Given the description of an element on the screen output the (x, y) to click on. 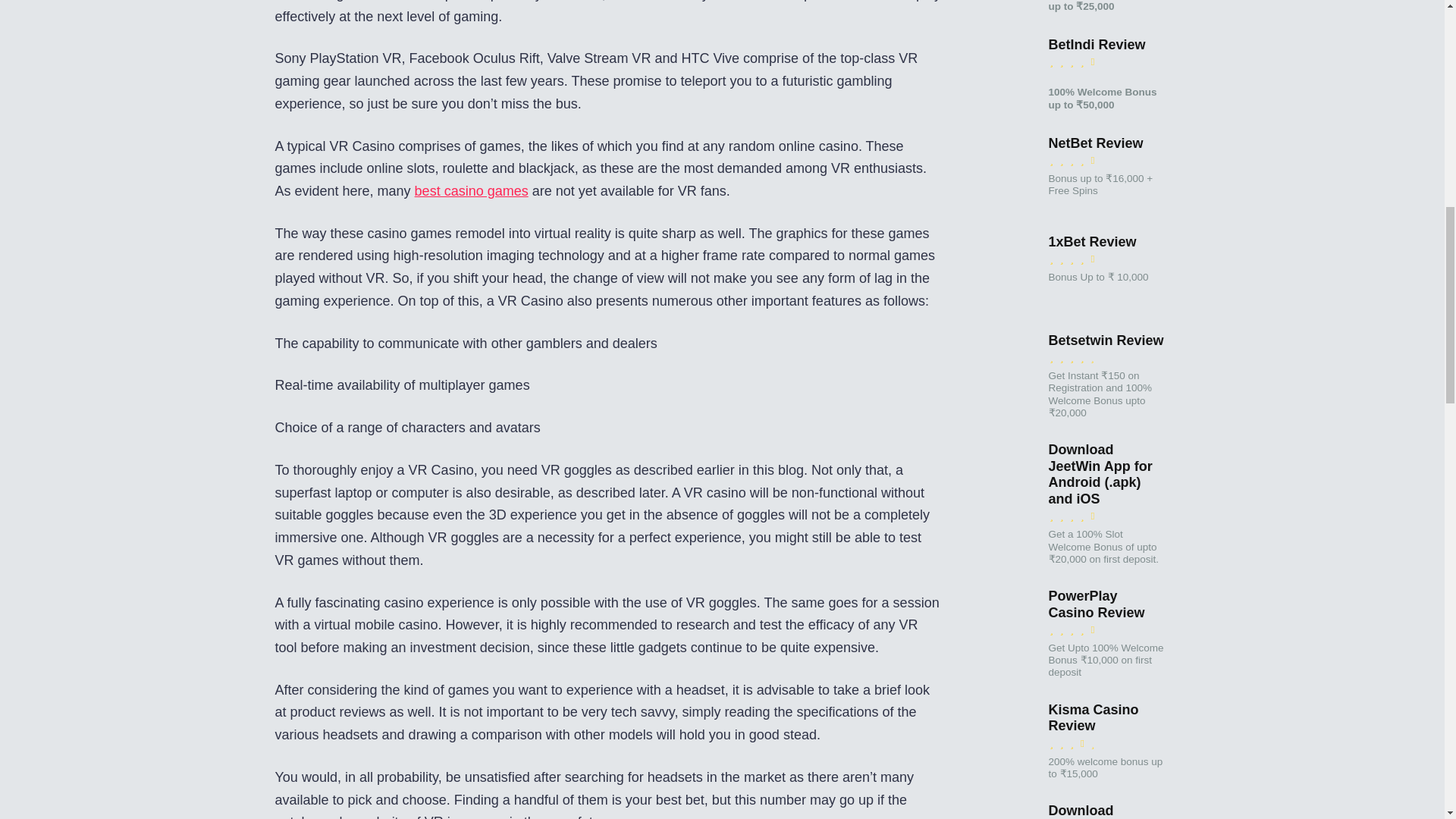
NetBet Review (998, 206)
1xBet Review (1091, 242)
1xBet Review (998, 305)
BetIndi Review (998, 108)
Jeetcity Review (998, 9)
BetIndi Review (1096, 44)
NetBet Review (1095, 143)
